Given the description of an element on the screen output the (x, y) to click on. 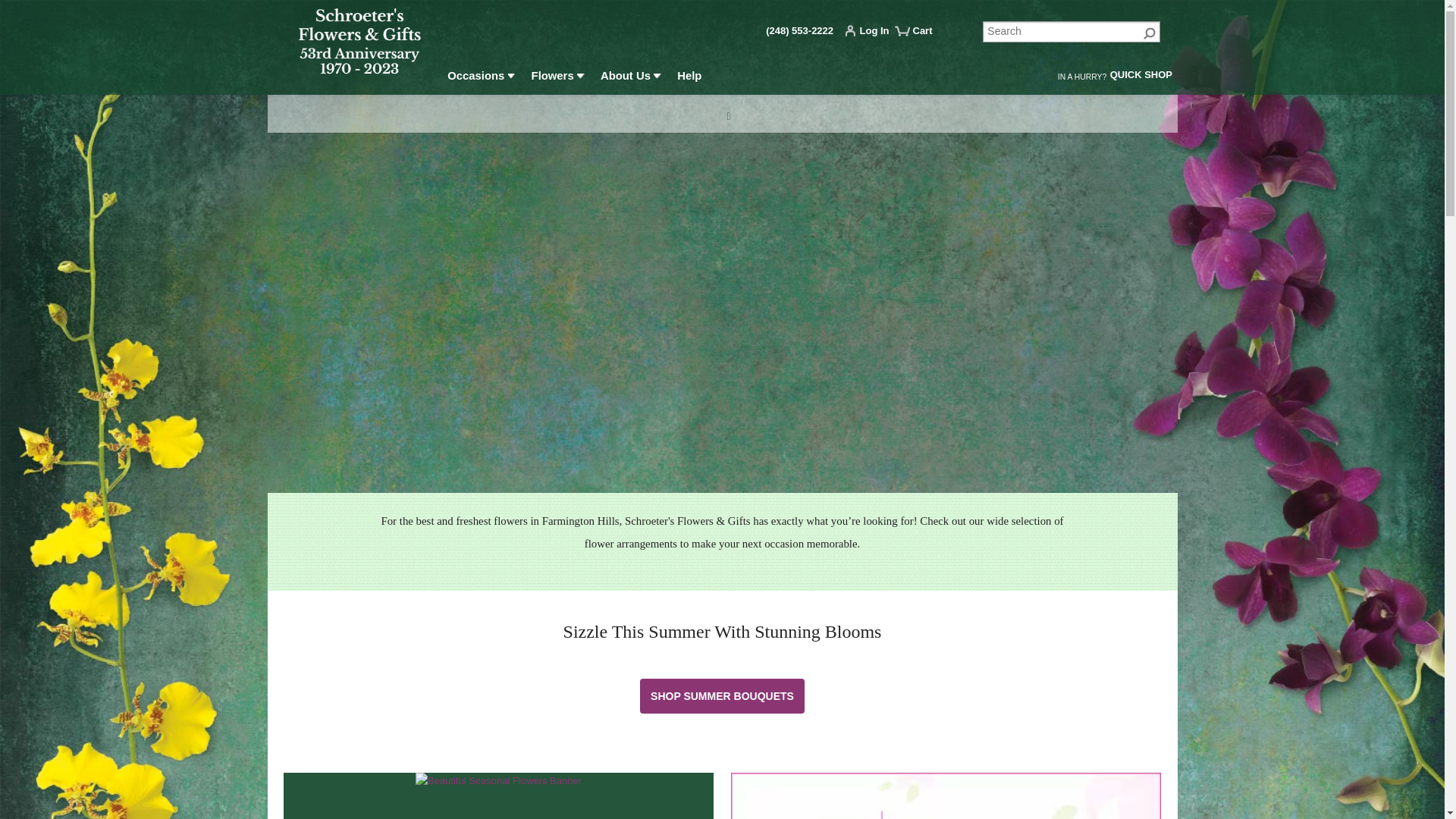
Go (1149, 32)
Occasions (481, 78)
log In (870, 33)
Cart (919, 36)
Log In (870, 33)
Search (1071, 31)
Flowers (557, 78)
Quick Shop (1140, 77)
